Given the description of an element on the screen output the (x, y) to click on. 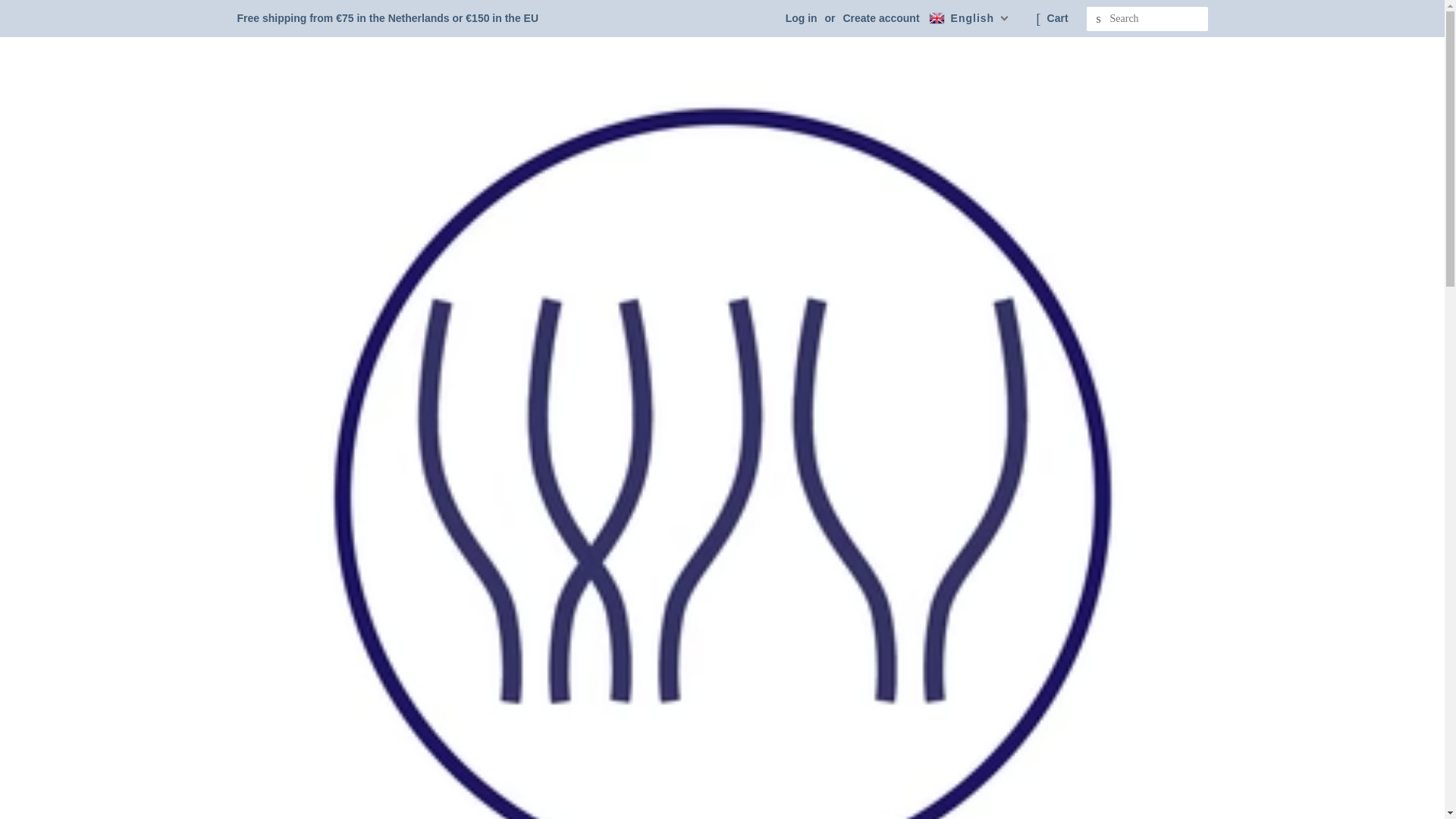
Create account (880, 18)
Cart (1057, 18)
Log in (801, 18)
Search (1097, 18)
